Given the description of an element on the screen output the (x, y) to click on. 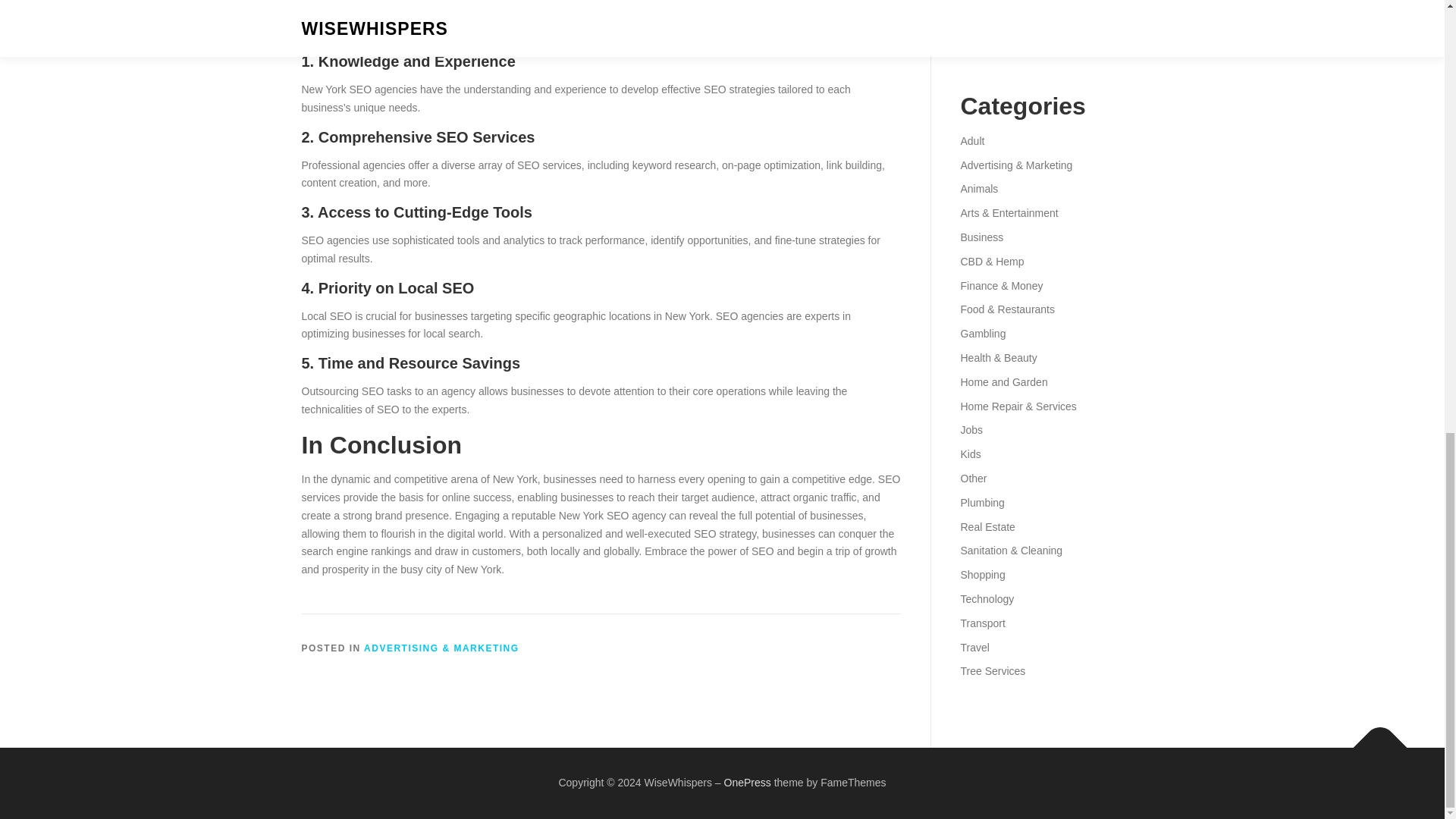
April 2023 (983, 46)
June 2023 (984, 2)
Animals (978, 188)
Back To Top (1372, 740)
May 2023 (982, 21)
Adult (971, 141)
Business (981, 236)
Gambling (982, 333)
